Given the description of an element on the screen output the (x, y) to click on. 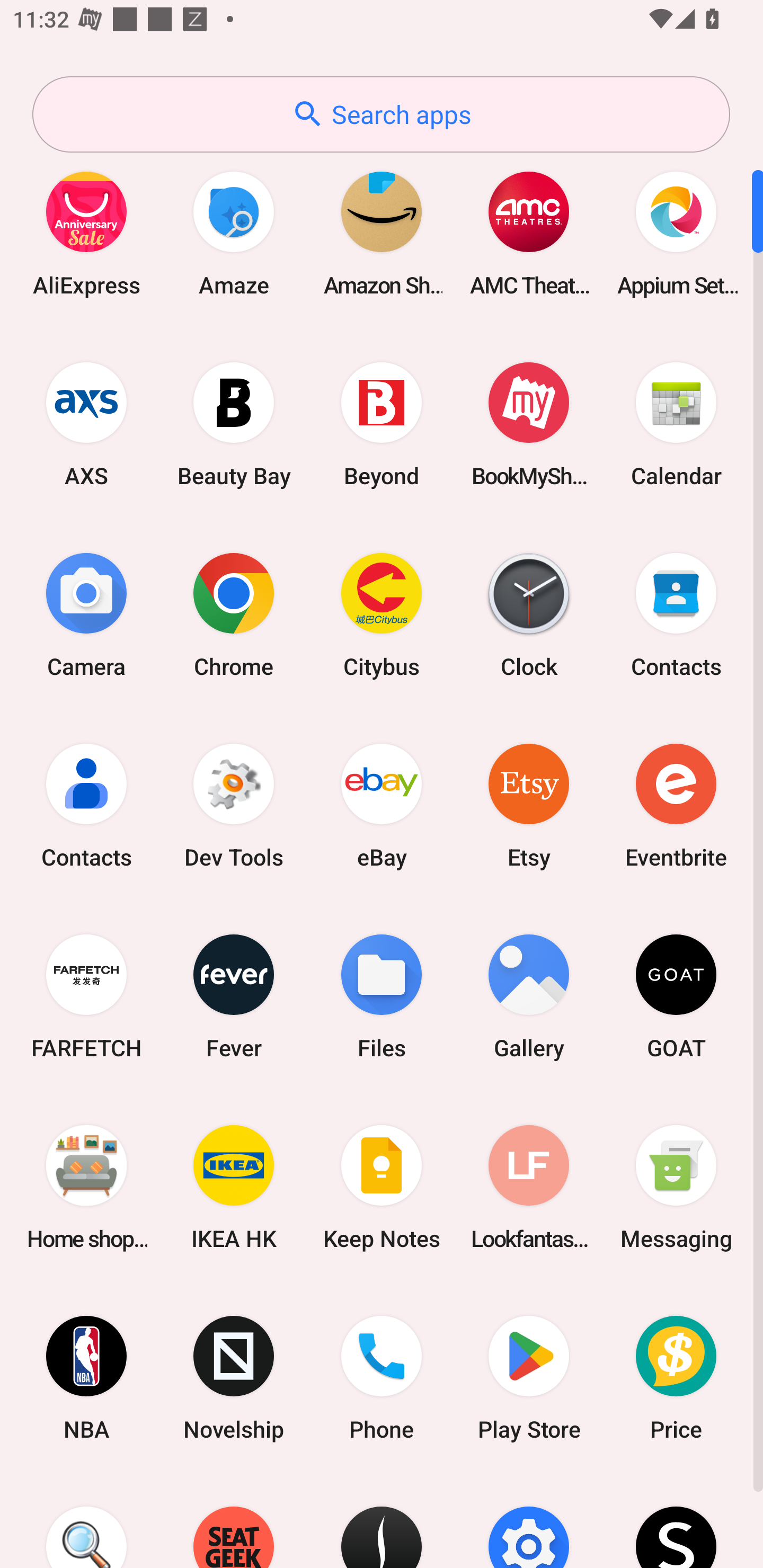
  Search apps (381, 114)
AliExpress (86, 233)
Amaze (233, 233)
Amazon Shopping (381, 233)
AMC Theatres (528, 233)
Appium Settings (676, 233)
AXS (86, 424)
Beauty Bay (233, 424)
Beyond (381, 424)
BookMyShow (528, 424)
Calendar (676, 424)
Camera (86, 614)
Chrome (233, 614)
Citybus (381, 614)
Clock (528, 614)
Contacts (676, 614)
Contacts (86, 805)
Dev Tools (233, 805)
eBay (381, 805)
Etsy (528, 805)
Eventbrite (676, 805)
FARFETCH (86, 996)
Fever (233, 996)
Files (381, 996)
Gallery (528, 996)
GOAT (676, 996)
Home shopping (86, 1186)
IKEA HK (233, 1186)
Keep Notes (381, 1186)
Lookfantastic (528, 1186)
Messaging (676, 1186)
NBA (86, 1377)
Novelship (233, 1377)
Phone (381, 1377)
Play Store (528, 1377)
Price (676, 1377)
